Given the description of an element on the screen output the (x, y) to click on. 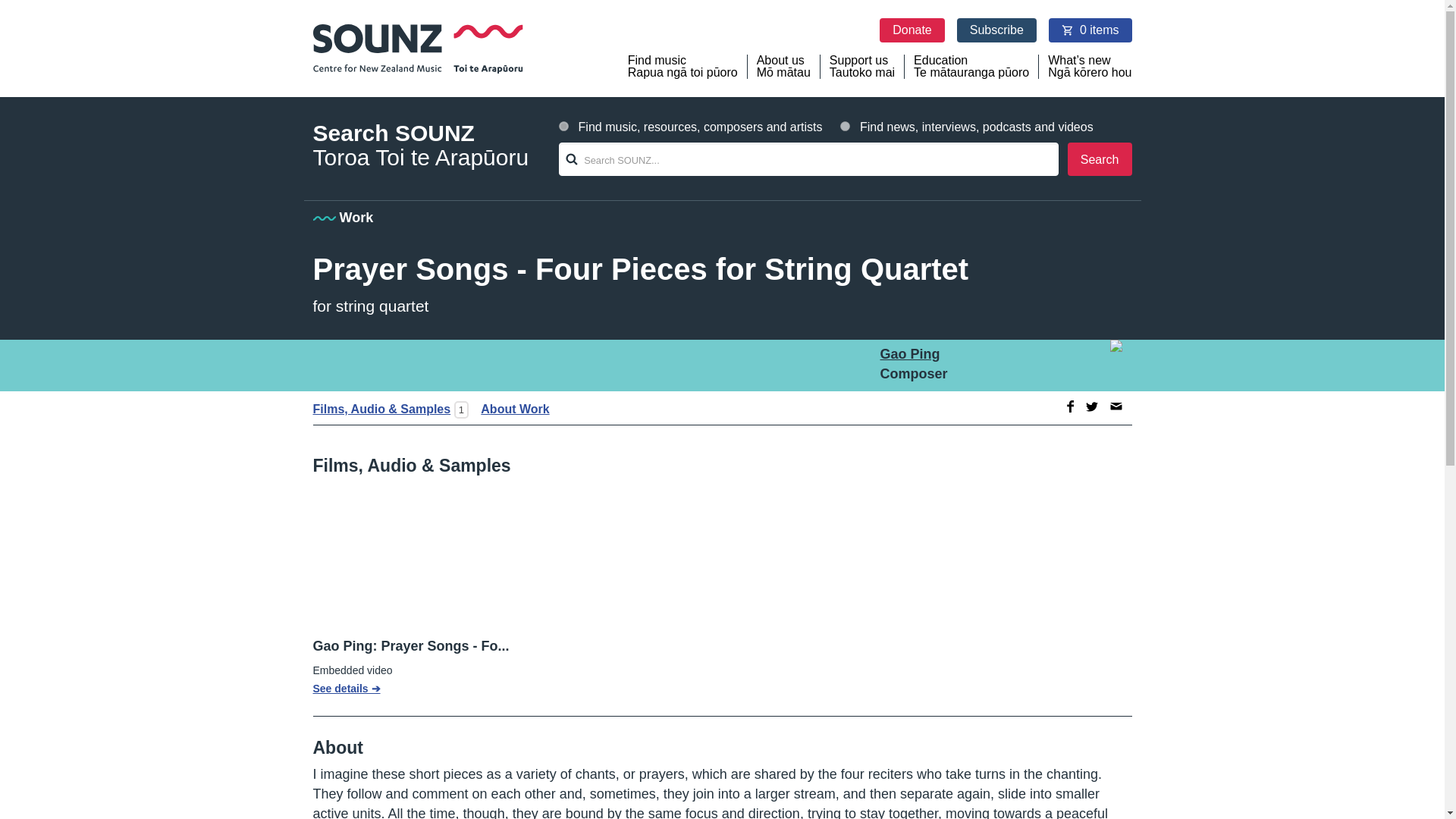
catalogue (564, 126)
Search (862, 66)
Share to Email (1099, 159)
Share to Twitter (1115, 406)
Donate (1091, 406)
About Work (911, 30)
0 items (509, 408)
Share to Facebook (1090, 30)
content (1067, 406)
Gao Ping (845, 126)
Subscribe (909, 353)
